Given the description of an element on the screen output the (x, y) to click on. 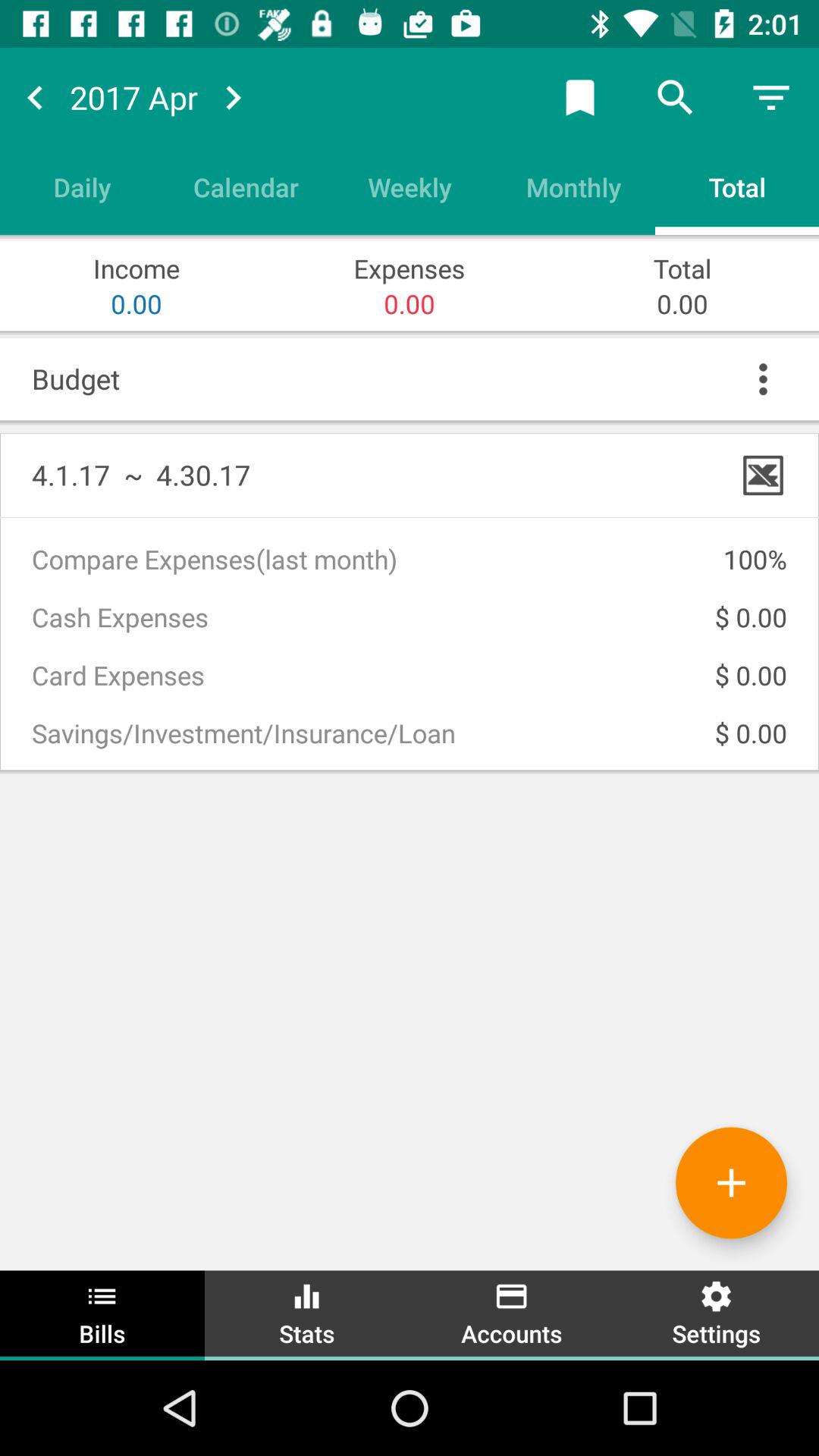
tap monthly (573, 186)
